Given the description of an element on the screen output the (x, y) to click on. 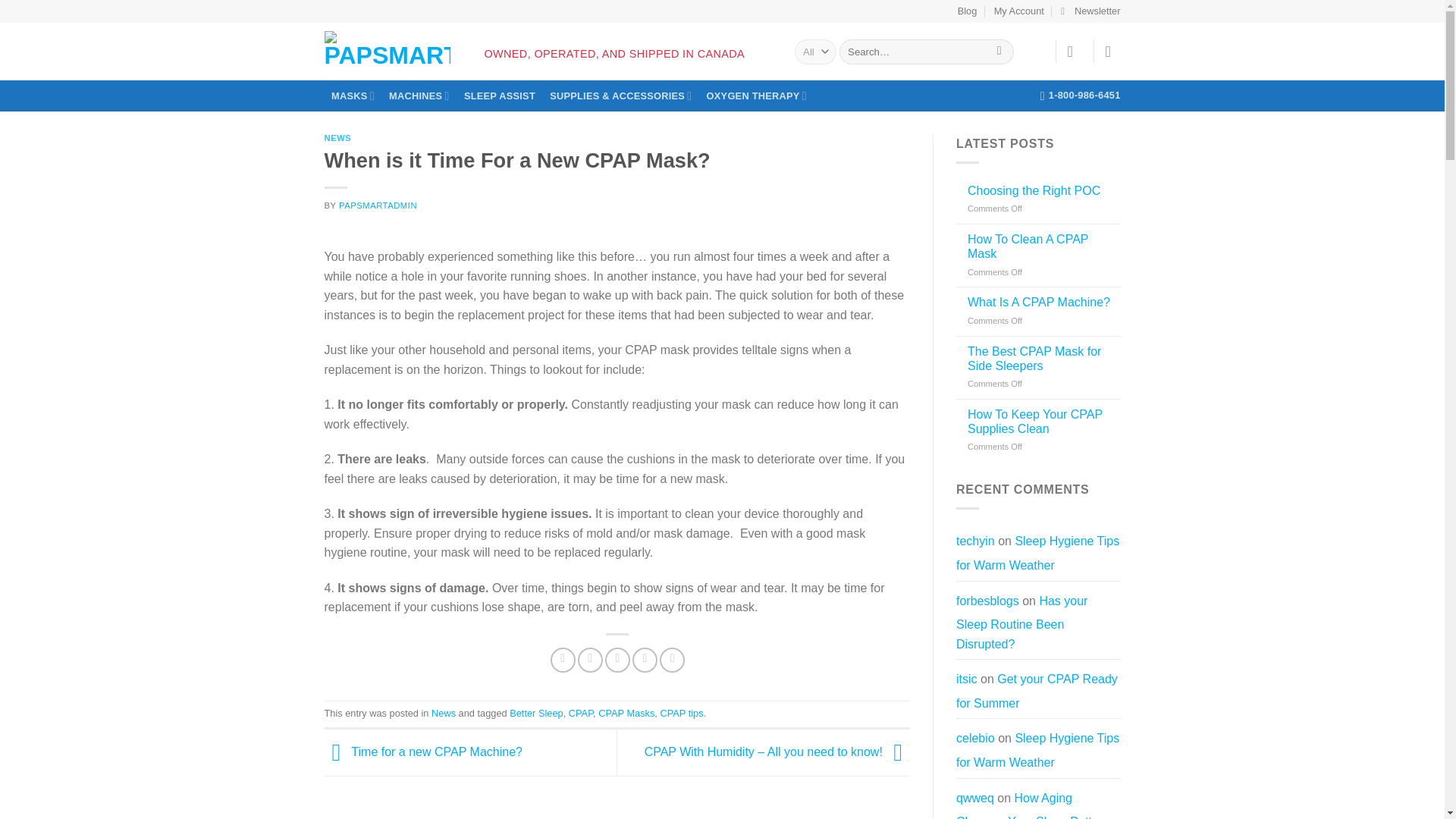
NEWS (338, 137)
Share on LinkedIn (671, 659)
PAPSMARTADMIN (377, 204)
PAPSmart Canada - Owned, operated, and shipped in Canada (386, 47)
OXYGEN THERAPY (755, 96)
1-800-986-6451 (1081, 95)
MACHINES (419, 96)
Pin on Pinterest (644, 659)
MASKS (352, 96)
SLEEP ASSIST (499, 96)
My Account (1018, 11)
Email to a Friend (617, 659)
Newsletter (1090, 11)
1-800-986-6451 (1081, 95)
Search (999, 52)
